Given the description of an element on the screen output the (x, y) to click on. 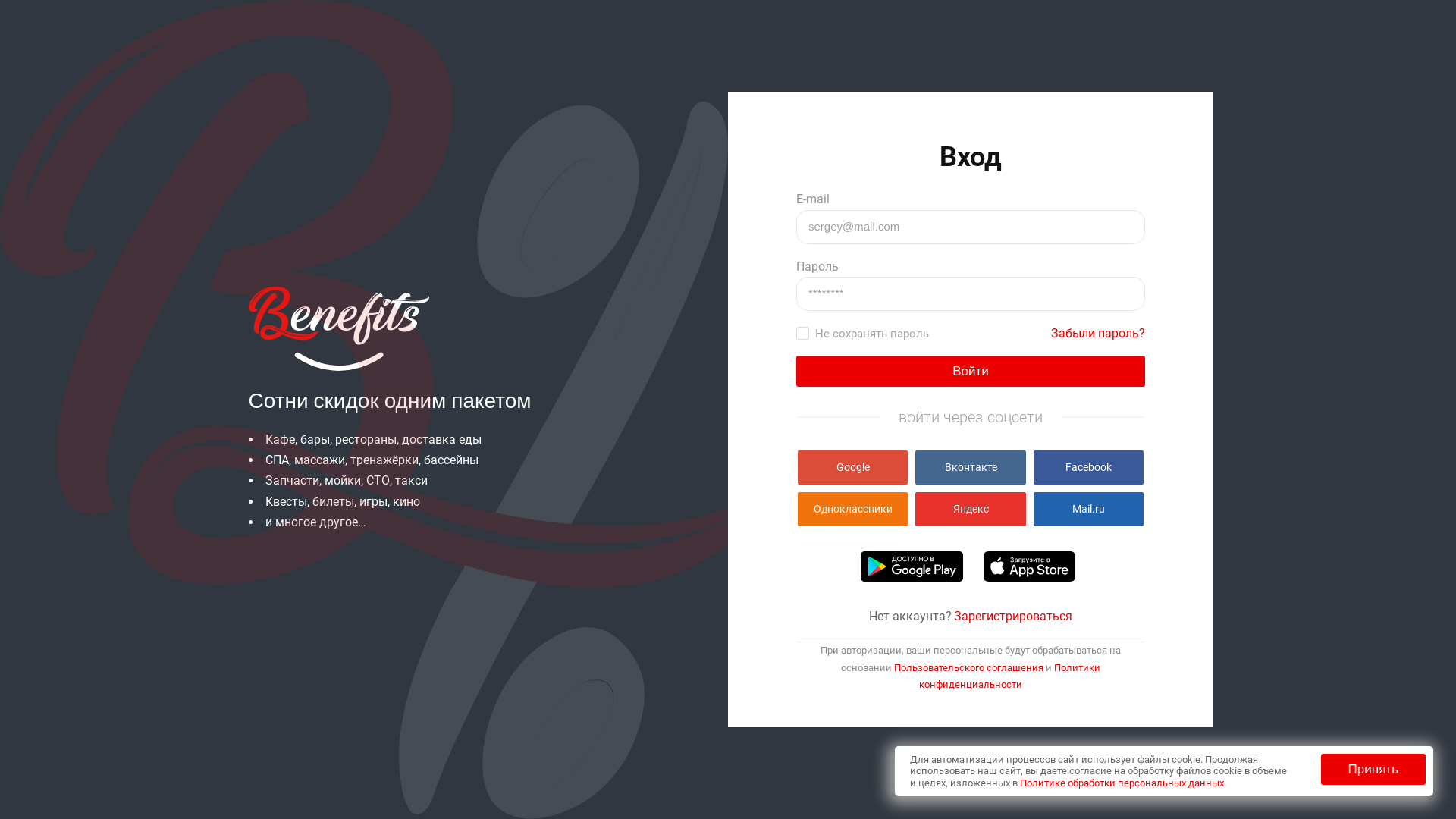
Facebook Element type: text (1088, 467)
Google Play Element type: hover (911, 566)
Mail.ru Element type: text (1088, 509)
Google Element type: text (852, 467)
App Store Element type: hover (1029, 566)
